Given the description of an element on the screen output the (x, y) to click on. 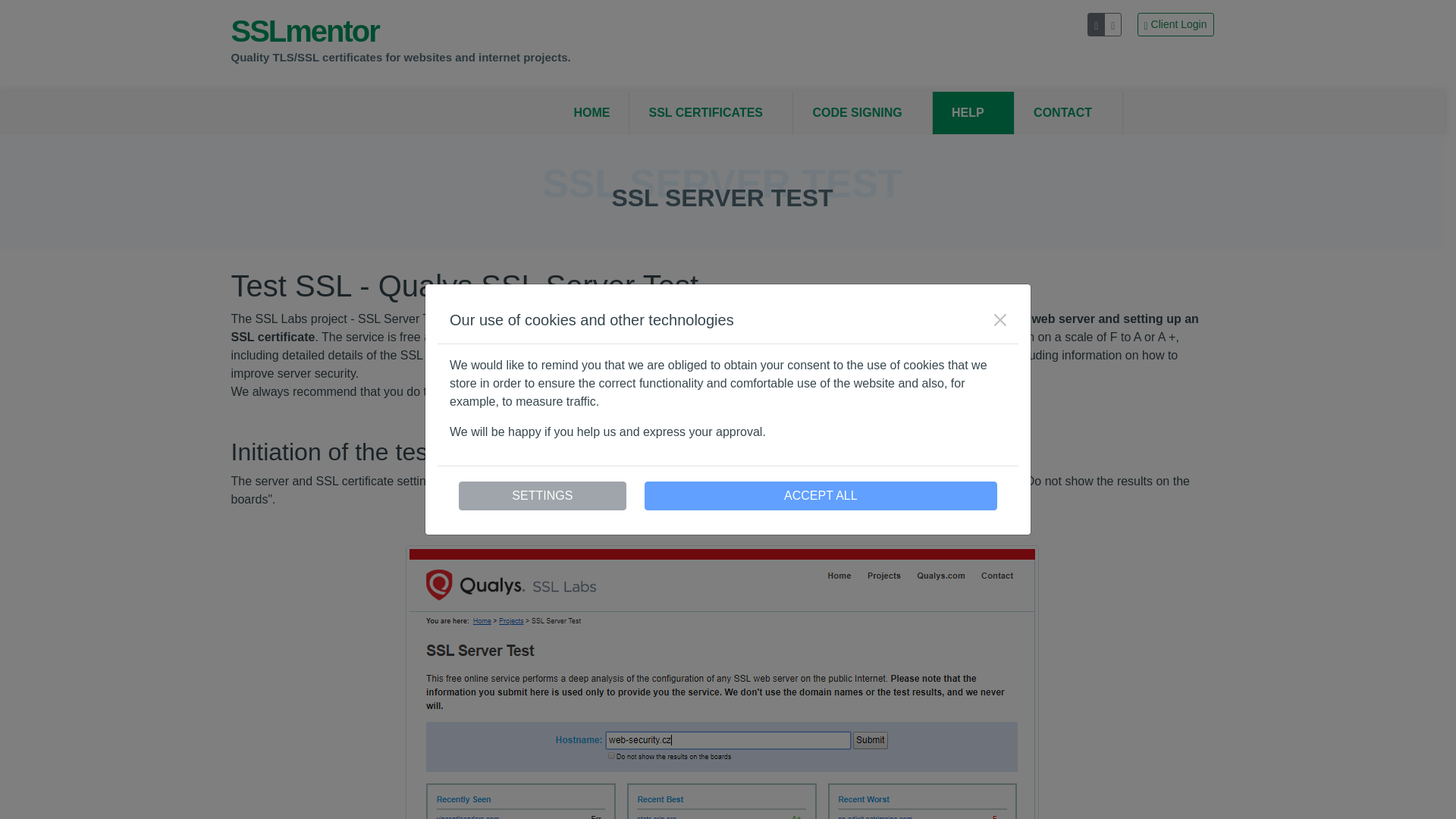
HOME (591, 112)
Client Login (1175, 24)
CODE SIGNING (862, 112)
SSL certificate (611, 391)
HOME (591, 112)
SSLmentor (266, 113)
HELP (973, 112)
SSL CERTIFICATES (710, 112)
SSL certificate (611, 391)
CONTACT (1067, 112)
